Given the description of an element on the screen output the (x, y) to click on. 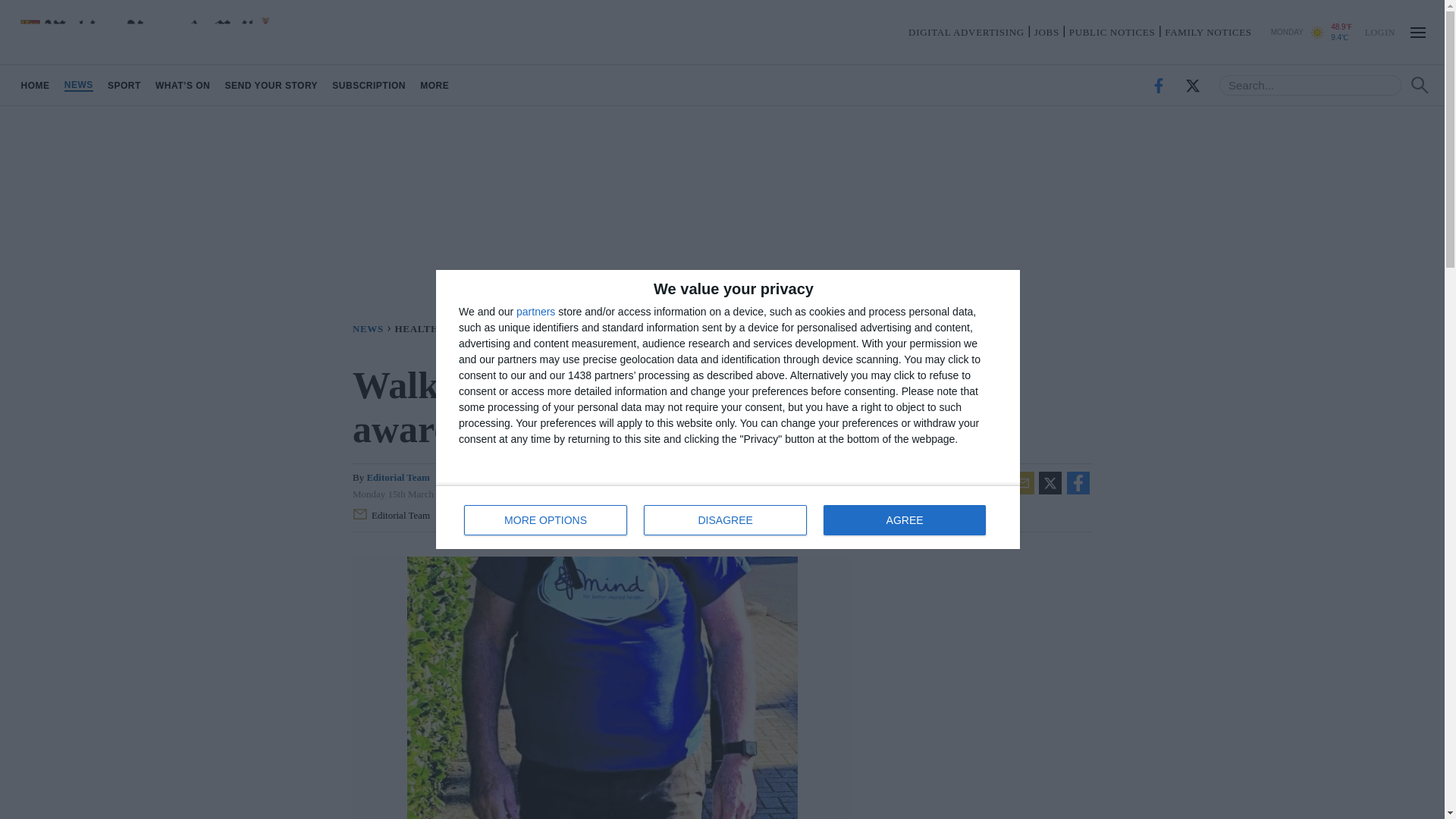
SPORT (727, 516)
MORE OPTIONS (124, 85)
Editorial Team (545, 520)
FAMILY NOTICES (395, 515)
MORE (1207, 32)
AGREE (435, 85)
NEWS (904, 520)
LOGIN (78, 85)
SEND YOUR STORY (1379, 31)
